Given the description of an element on the screen output the (x, y) to click on. 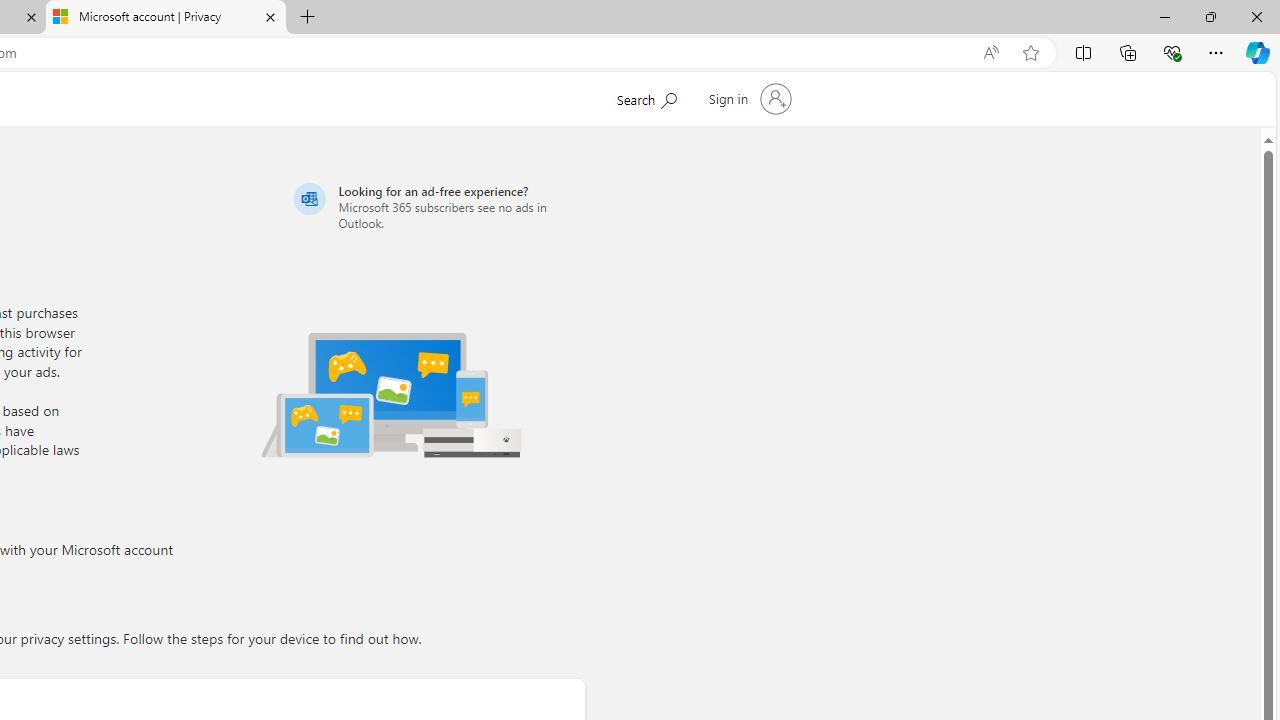
Illustration of multiple devices (391, 394)
Looking for an ad-free experience? (436, 206)
Search Microsoft.com (646, 97)
